Given the description of an element on the screen output the (x, y) to click on. 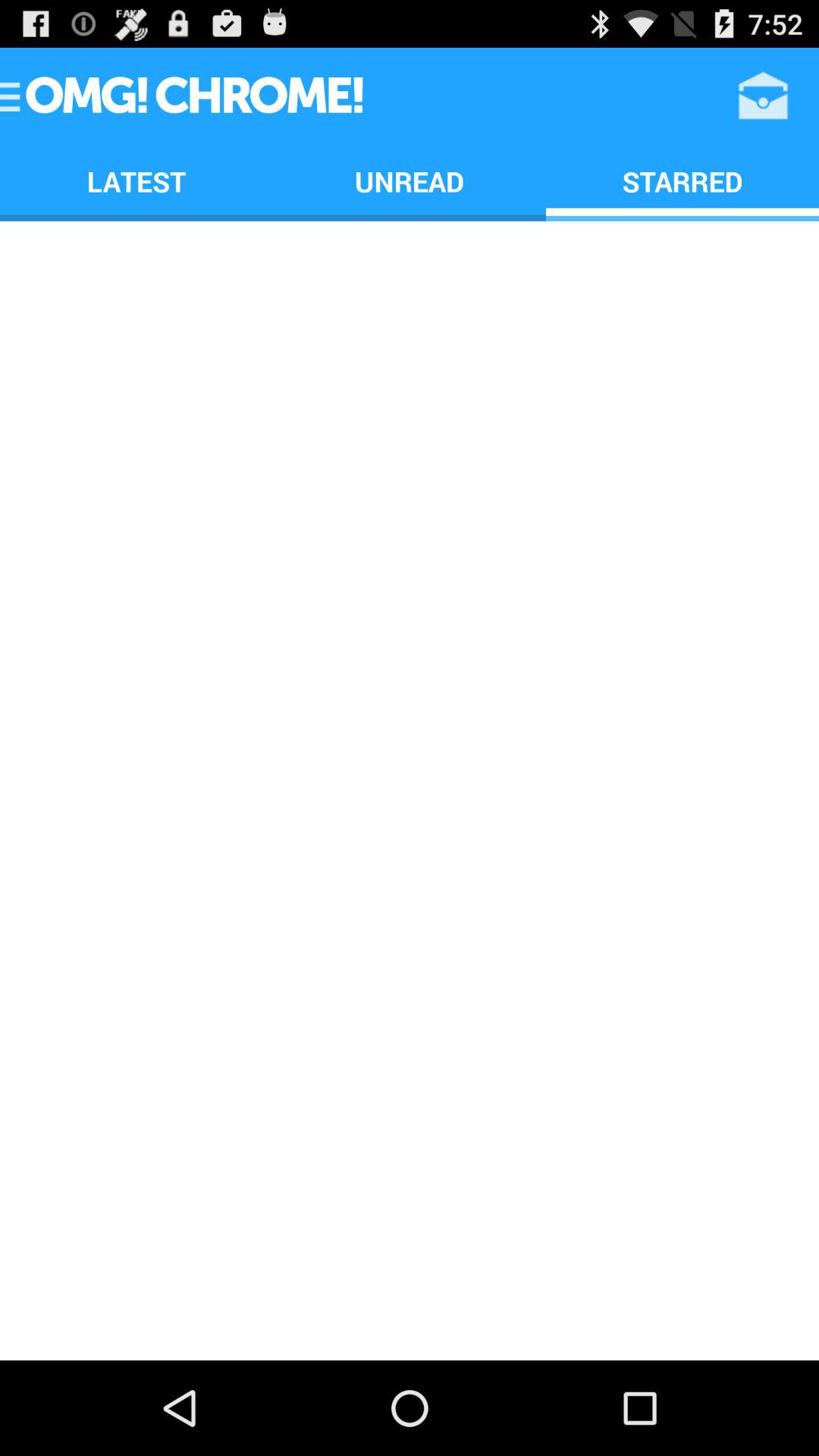
click the unread at the top (409, 181)
